Given the description of an element on the screen output the (x, y) to click on. 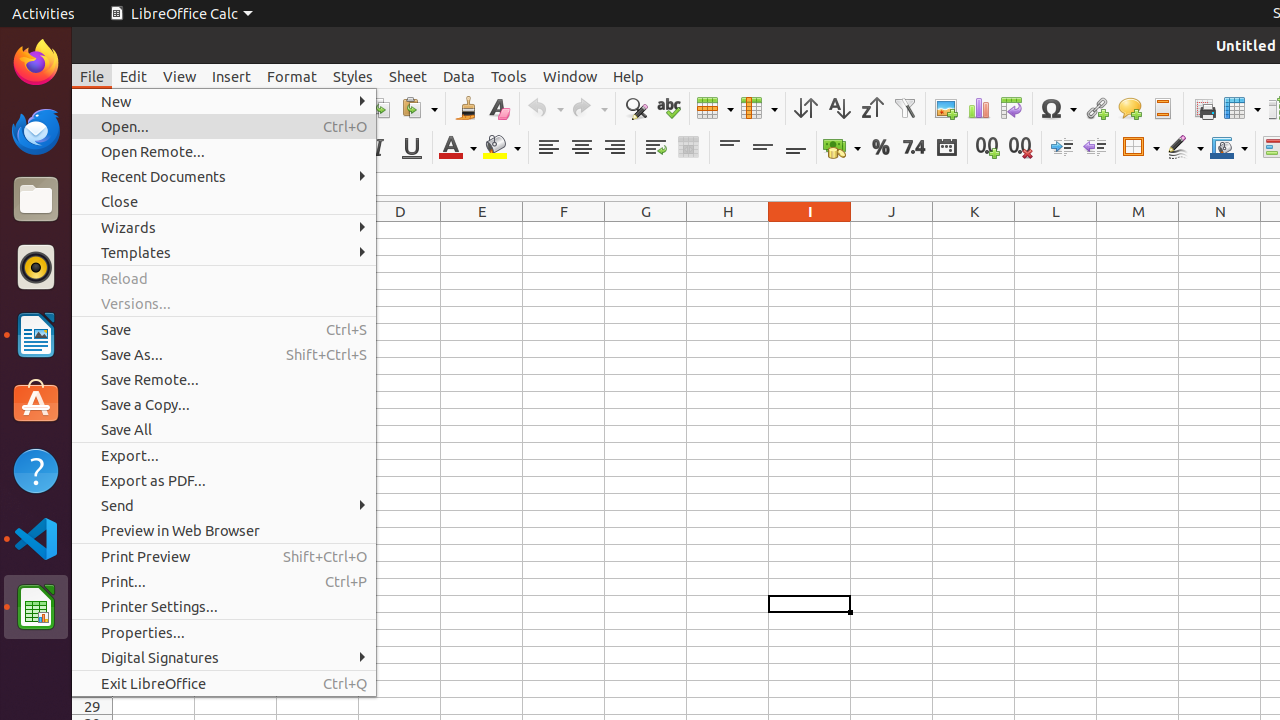
Styles Element type: menu (353, 76)
Date Element type: push-button (946, 147)
Percent Element type: push-button (880, 147)
Tools Element type: menu (509, 76)
Export as PDF... Element type: menu-item (224, 480)
